Given the description of an element on the screen output the (x, y) to click on. 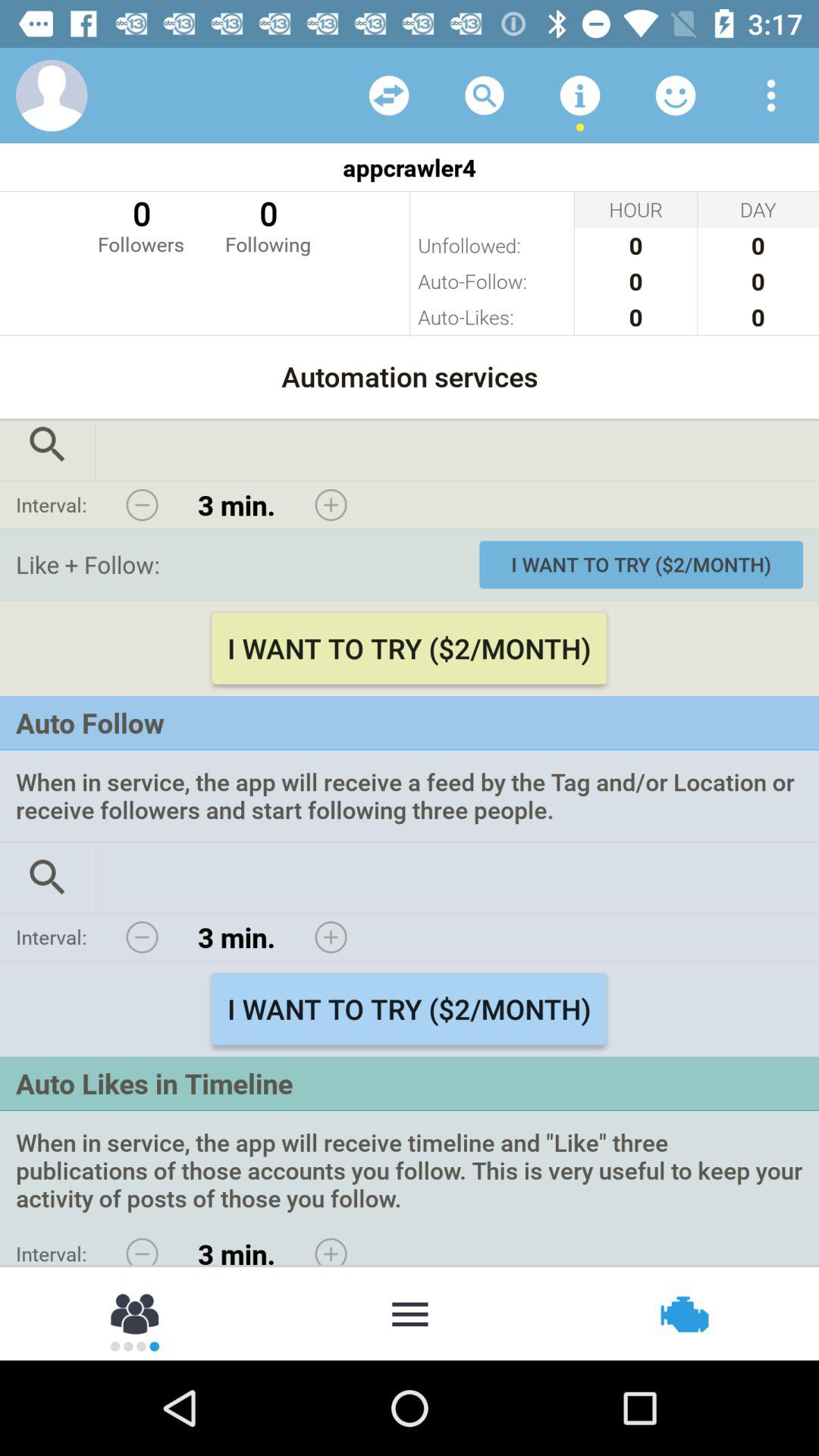
go to profile (51, 95)
